Given the description of an element on the screen output the (x, y) to click on. 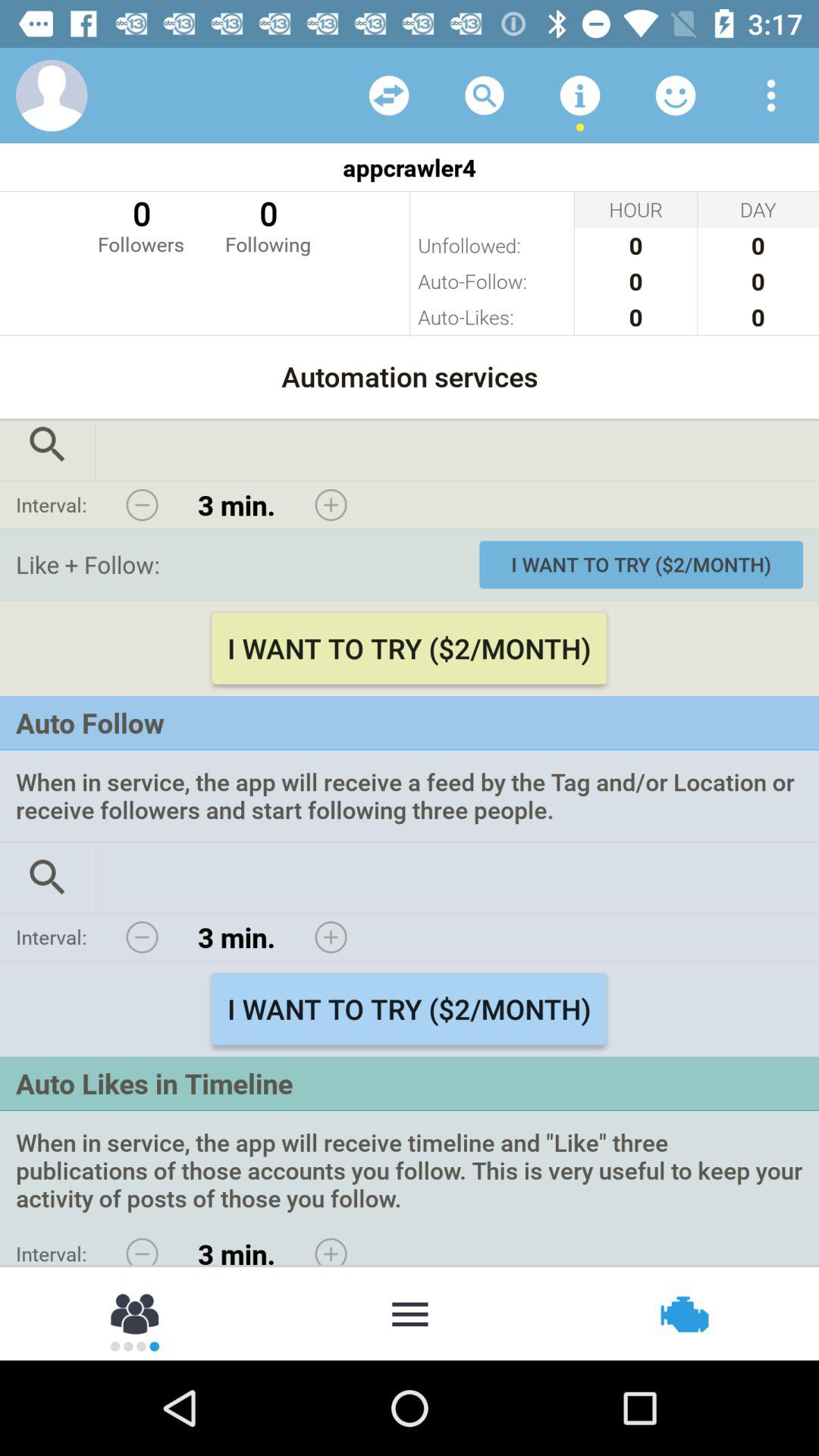
go to profile (51, 95)
